Given the description of an element on the screen output the (x, y) to click on. 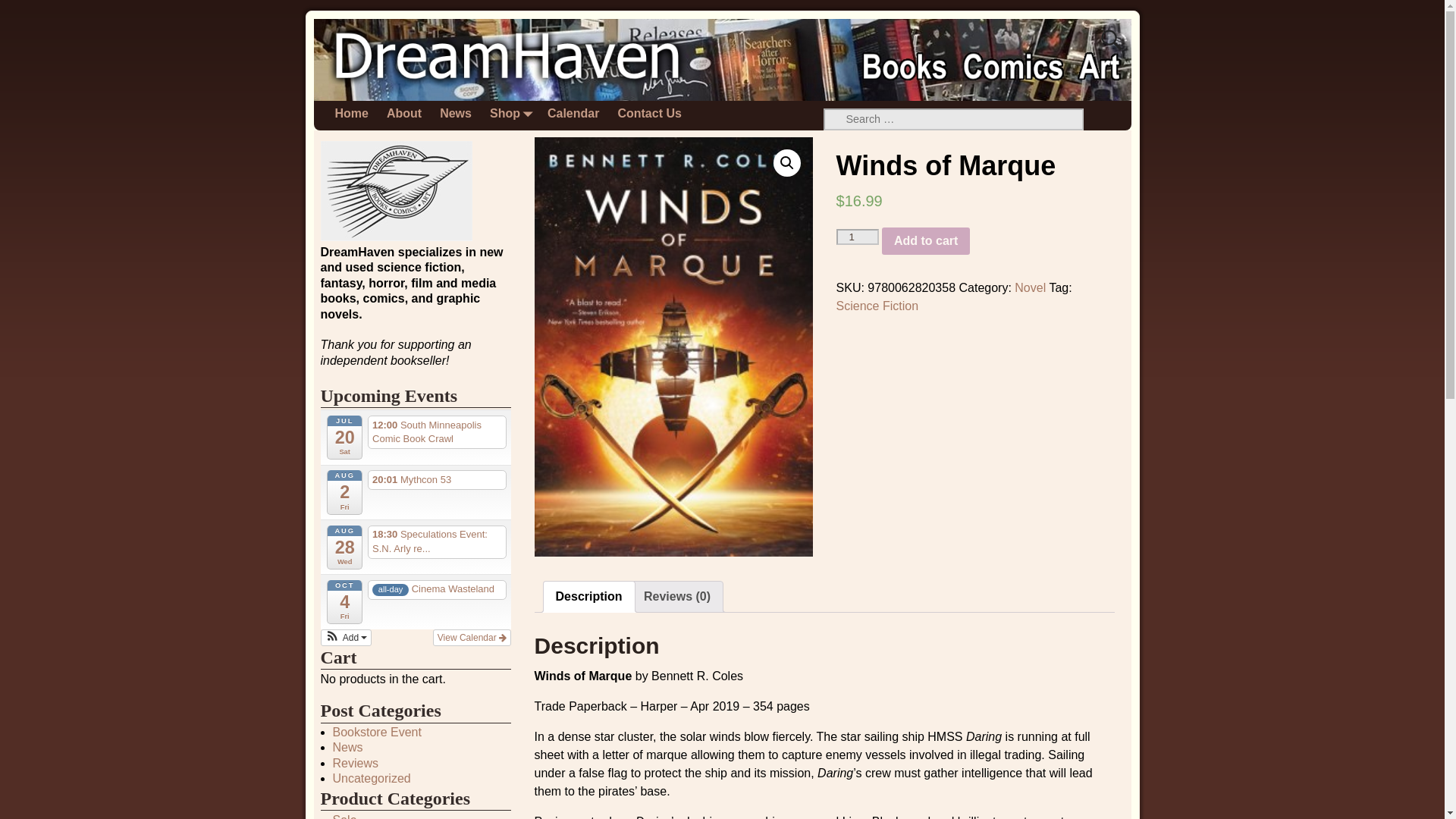
12:00 South Minneapolis Comic Book Crawl (437, 431)
Science Fiction (876, 305)
Qty (857, 236)
Description (589, 596)
News (455, 113)
Calendar (573, 113)
1 (857, 236)
Home (351, 113)
Contact Us (649, 113)
Novel (1029, 287)
About (403, 113)
Add to cart (925, 240)
Search for: (954, 119)
Shop (509, 113)
